Given the description of an element on the screen output the (x, y) to click on. 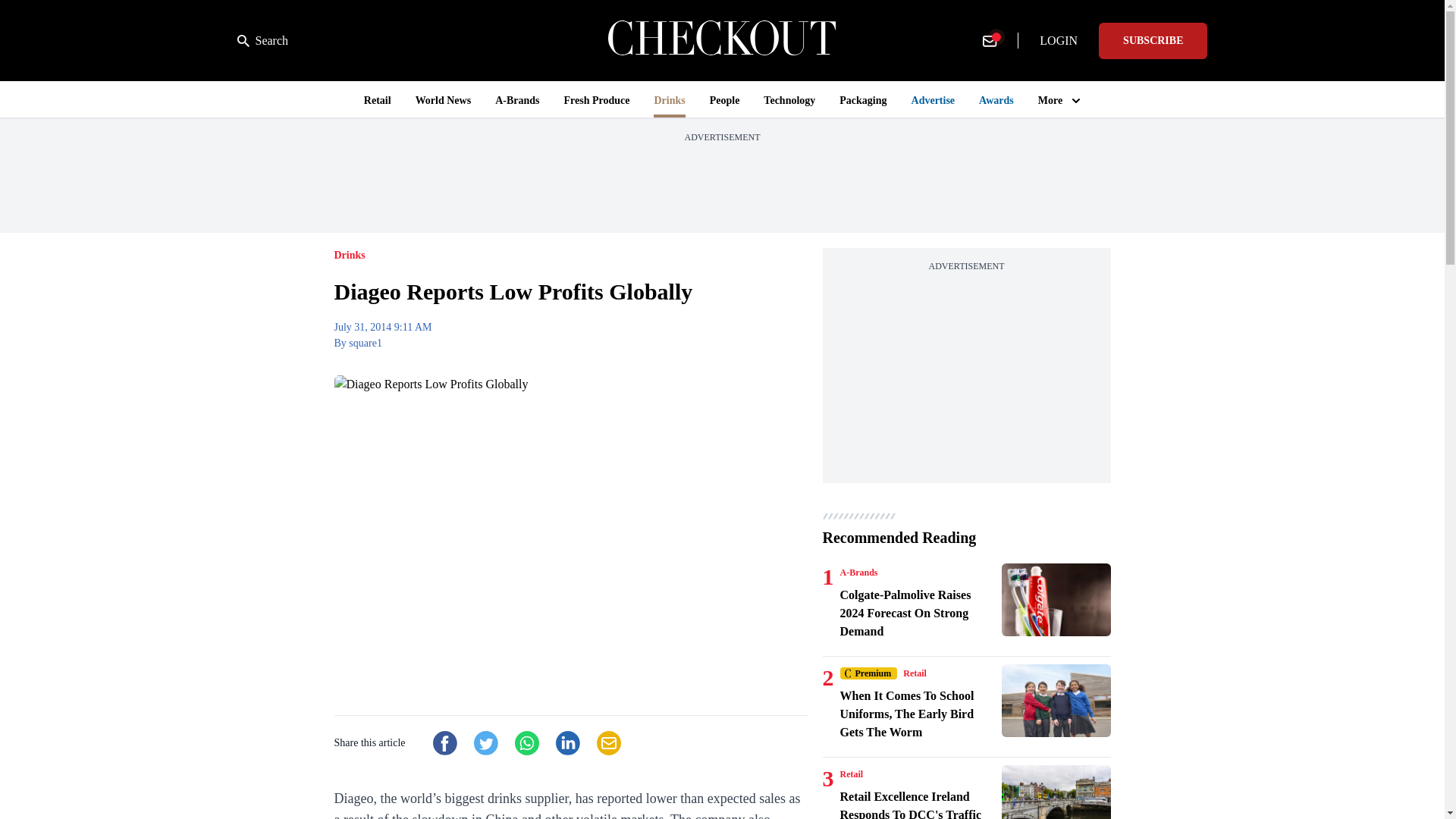
Colgate-Palmolive Raises 2024 Forecast On Strong Demand (1055, 599)
A-Brands (858, 572)
Colgate-Palmolive Raises 2024 Forecast On Strong Demand (917, 613)
LOGIN (1058, 40)
Checkout (721, 40)
Search (261, 40)
Retail (851, 774)
Retail (914, 673)
